Given the description of an element on the screen output the (x, y) to click on. 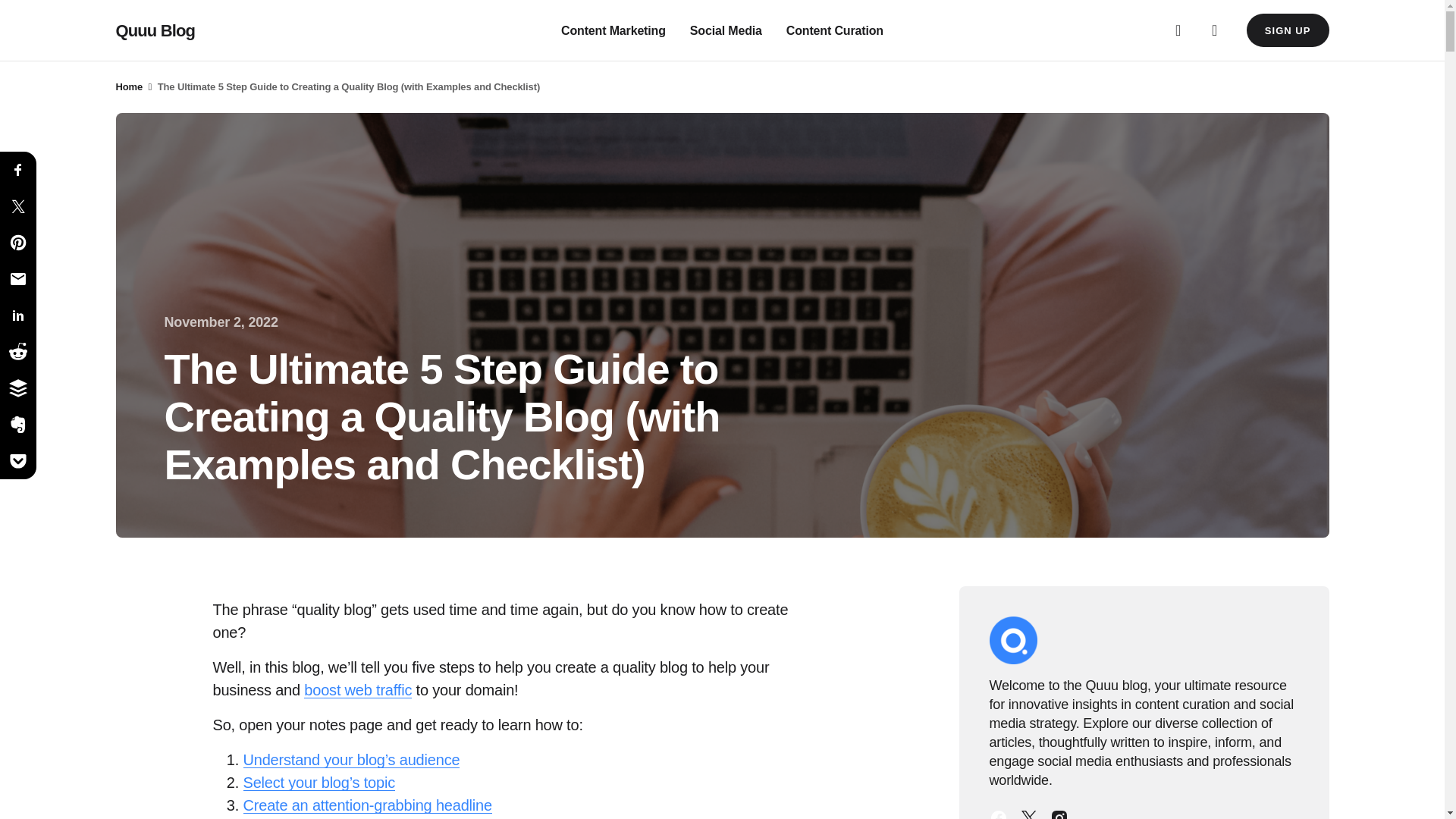
Instagram (1058, 811)
Content Marketing (612, 30)
Home (128, 86)
boost web traffic (358, 689)
Social Media (725, 30)
Twitter (1028, 811)
Facebook (997, 811)
SIGN UP (1287, 30)
Content Curation (834, 30)
Create an attention-grabbing headline (367, 805)
Quuu Blog (155, 30)
